Given the description of an element on the screen output the (x, y) to click on. 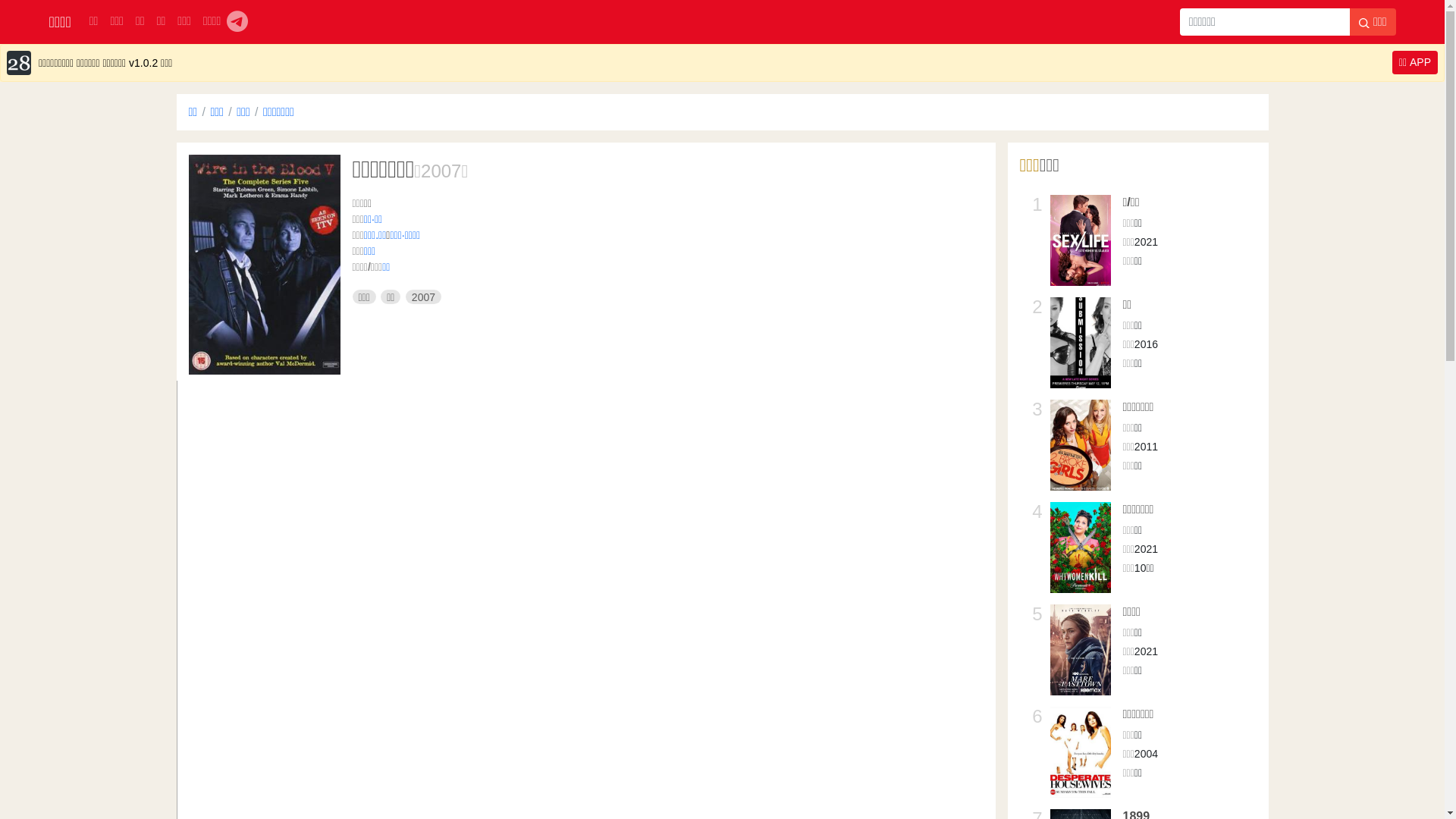
2007 Element type: text (440, 170)
2007 Element type: text (423, 296)
